Given the description of an element on the screen output the (x, y) to click on. 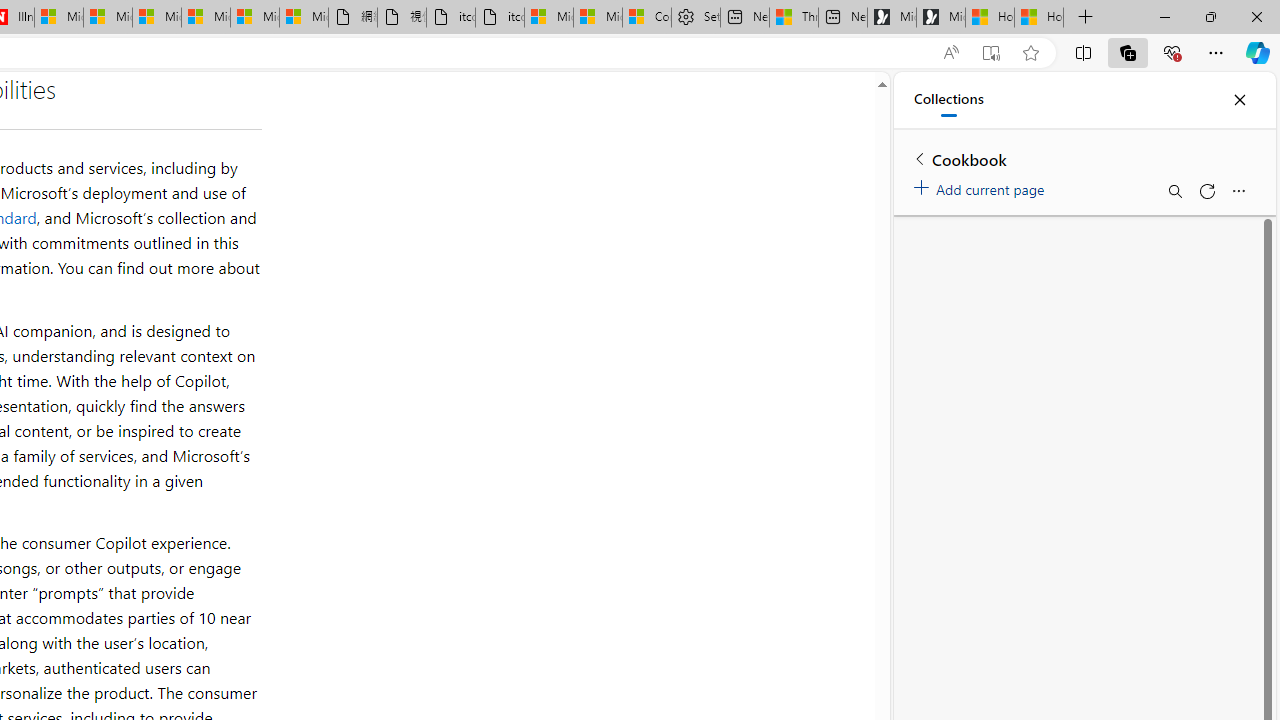
Add current page (982, 186)
Consumer Health Data Privacy Policy (646, 17)
Three Ways To Stop Sweating So Much (793, 17)
itconcepthk.com/projector_solutions.mp4 (499, 17)
How to Use a TV as a Computer Monitor (1039, 17)
